Given the description of an element on the screen output the (x, y) to click on. 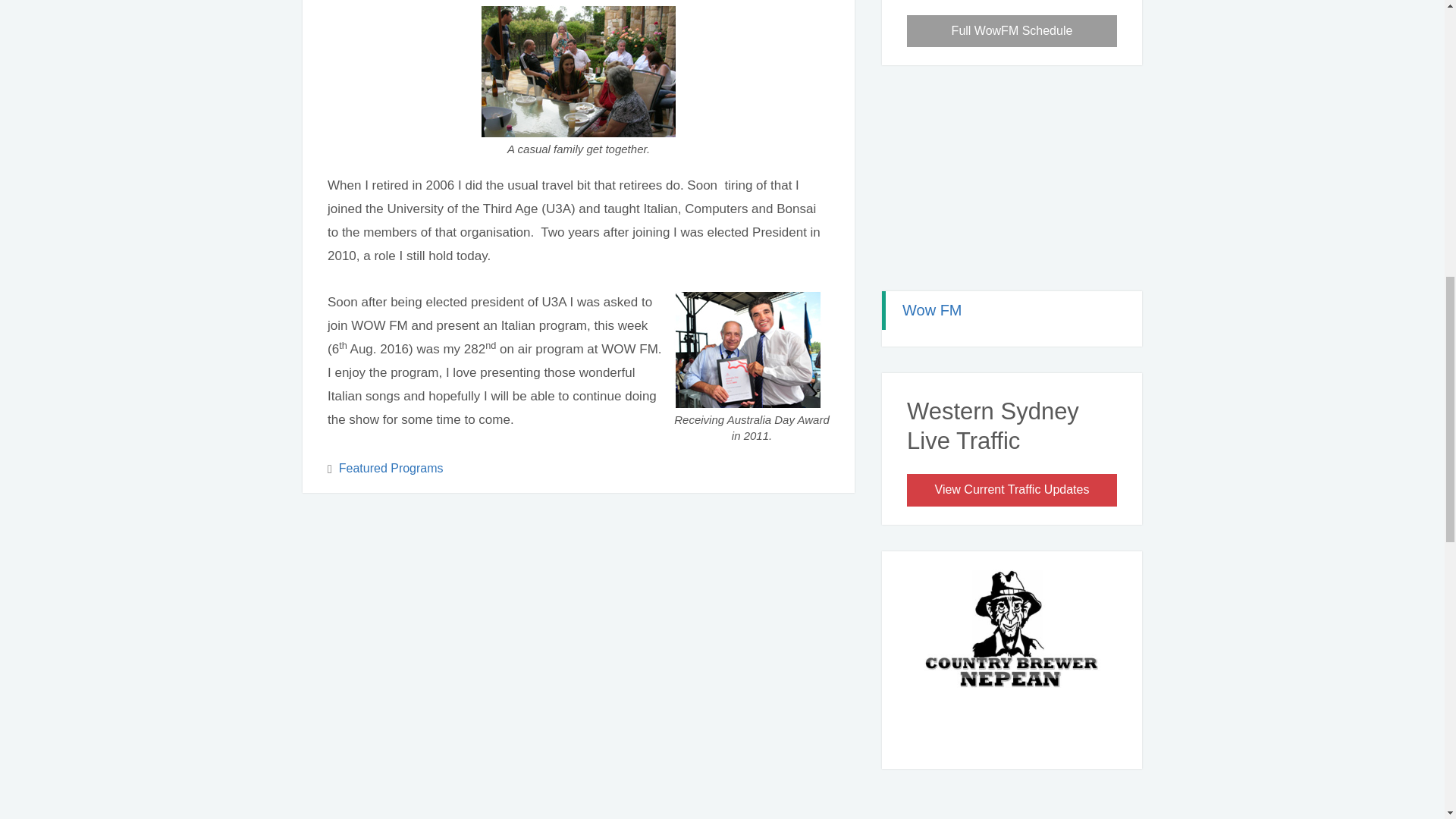
Country Brewer Nepean Logo 2023 (1011, 644)
Featured Programs (391, 468)
View Current Traffic Updates (1011, 490)
Penrith weather (1011, 256)
2 (1020, 738)
Full WowFM Schedule (1011, 31)
1 (1002, 738)
Wow FM (932, 310)
